Given the description of an element on the screen output the (x, y) to click on. 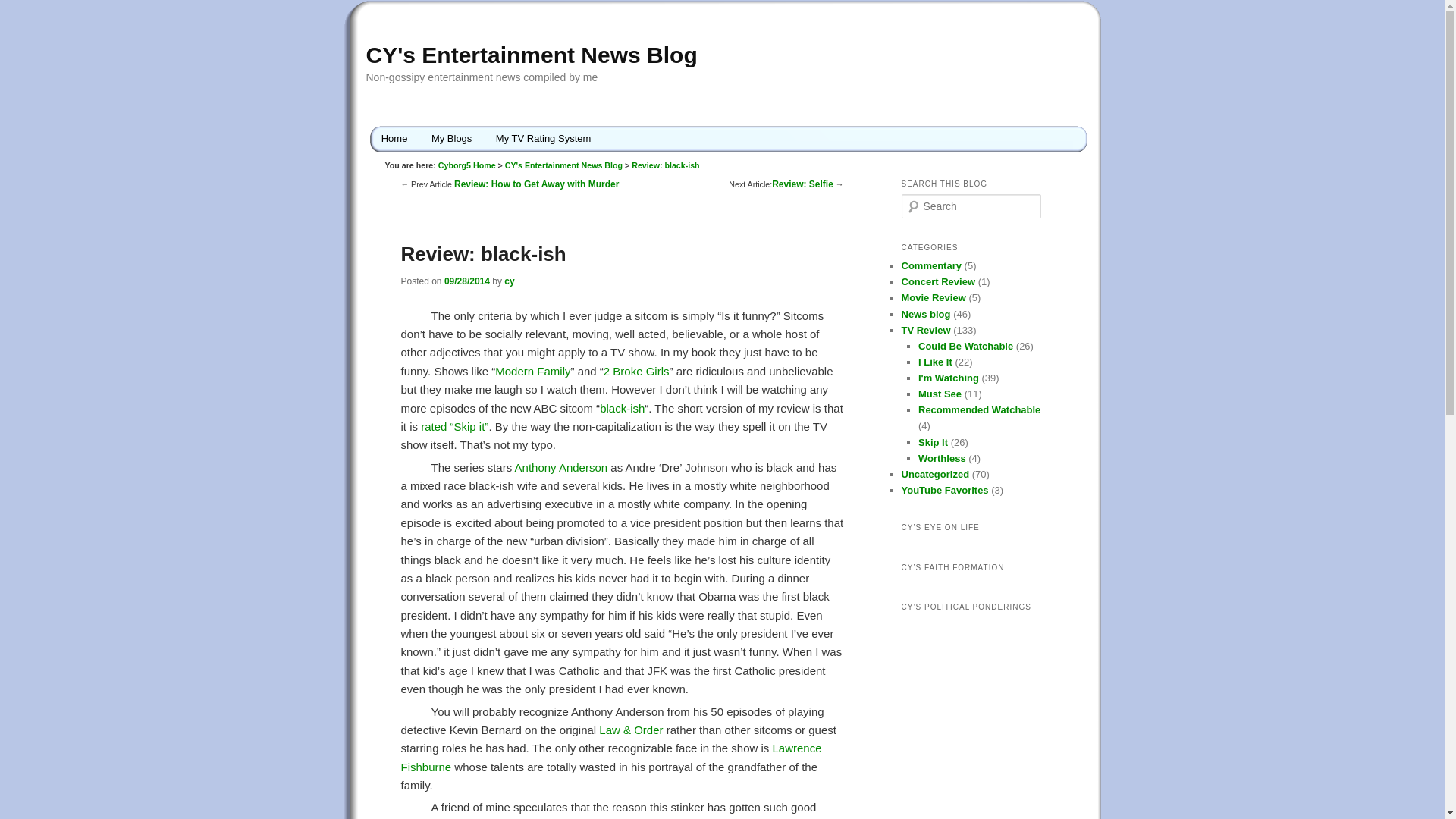
Home (394, 138)
Search (21, 11)
TV Review (925, 329)
CY's Entertainment News Blog (564, 164)
Anthony Anderson (561, 467)
My TV Rating System (542, 138)
cy (508, 281)
Concert Review (938, 281)
Movie Review (933, 297)
CY's Entertainment News Blog (531, 54)
